Given the description of an element on the screen output the (x, y) to click on. 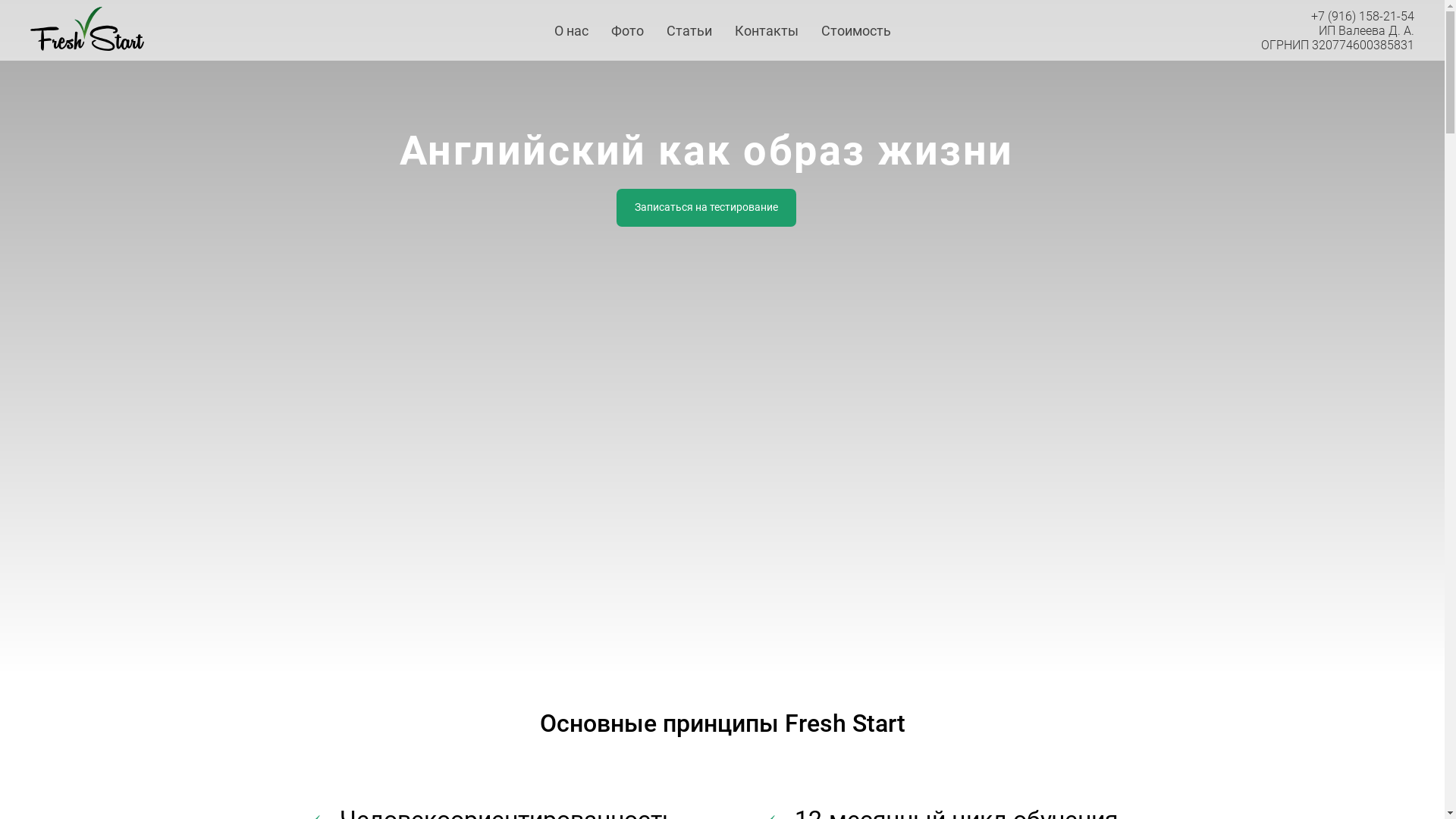
+7 (916) 158-21-54 Element type: text (1362, 16)
